Given the description of an element on the screen output the (x, y) to click on. 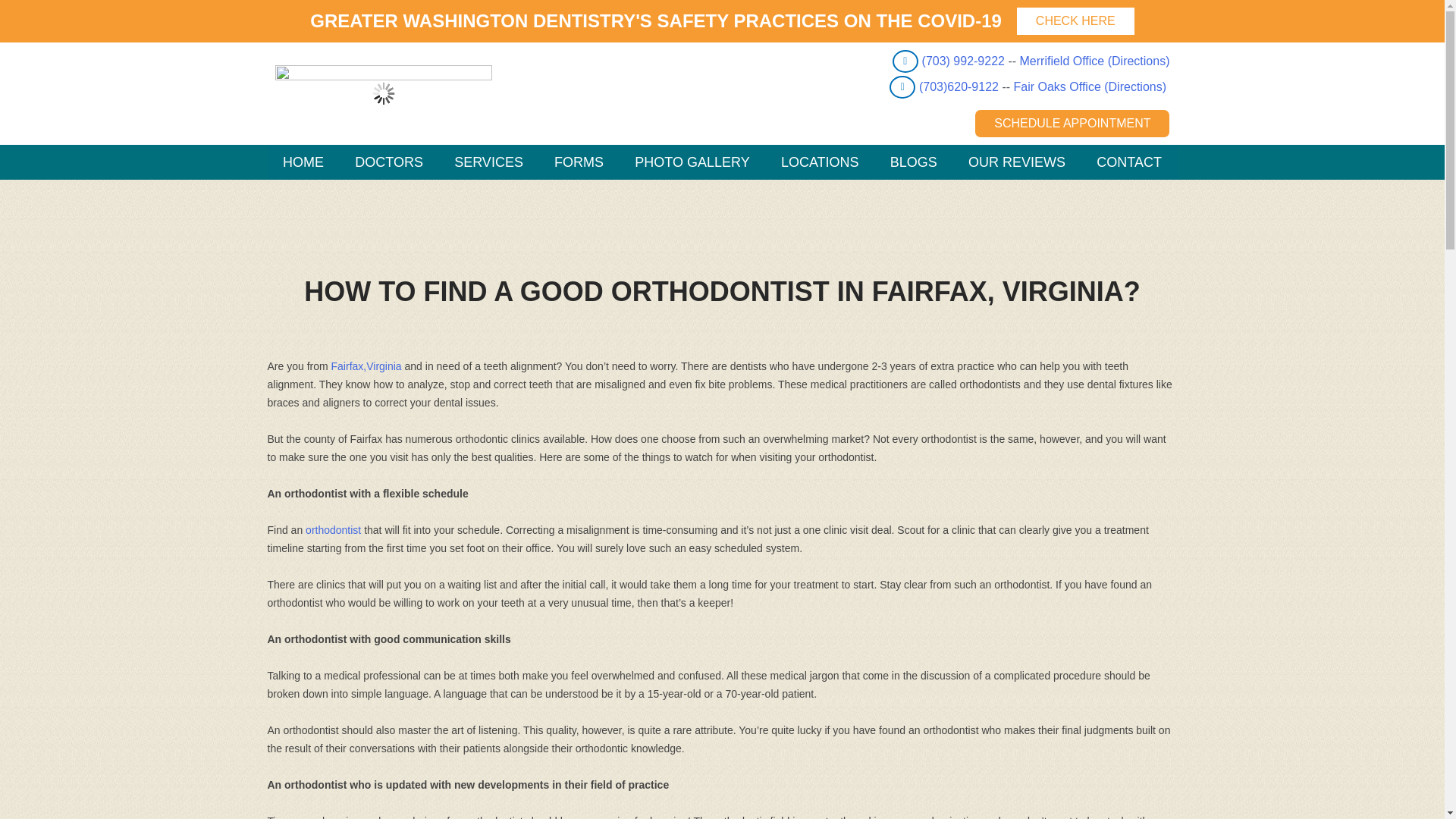
HOME (302, 161)
CHECK HERE (1075, 21)
SERVICES (488, 161)
SCHEDULE APPOINTMENT (1072, 123)
DOCTORS (389, 161)
